Given the description of an element on the screen output the (x, y) to click on. 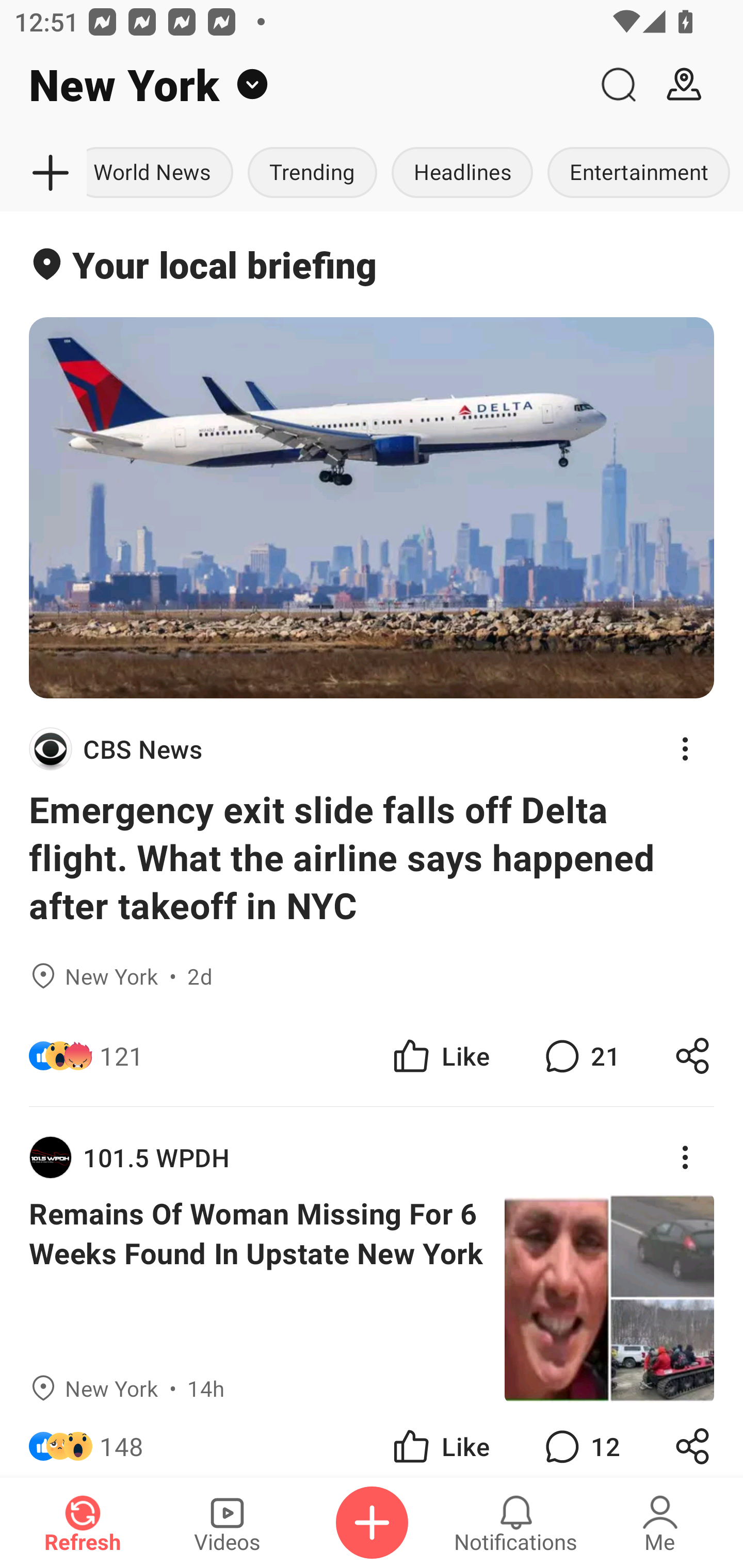
New York (292, 84)
World News (163, 172)
Trending (312, 172)
Headlines (462, 172)
Entertainment (638, 172)
121 (121, 1055)
Like (439, 1055)
21 (579, 1055)
148 (121, 1440)
Like (439, 1440)
12 (579, 1440)
Videos (227, 1522)
Notifications (516, 1522)
Me (659, 1522)
